Given the description of an element on the screen output the (x, y) to click on. 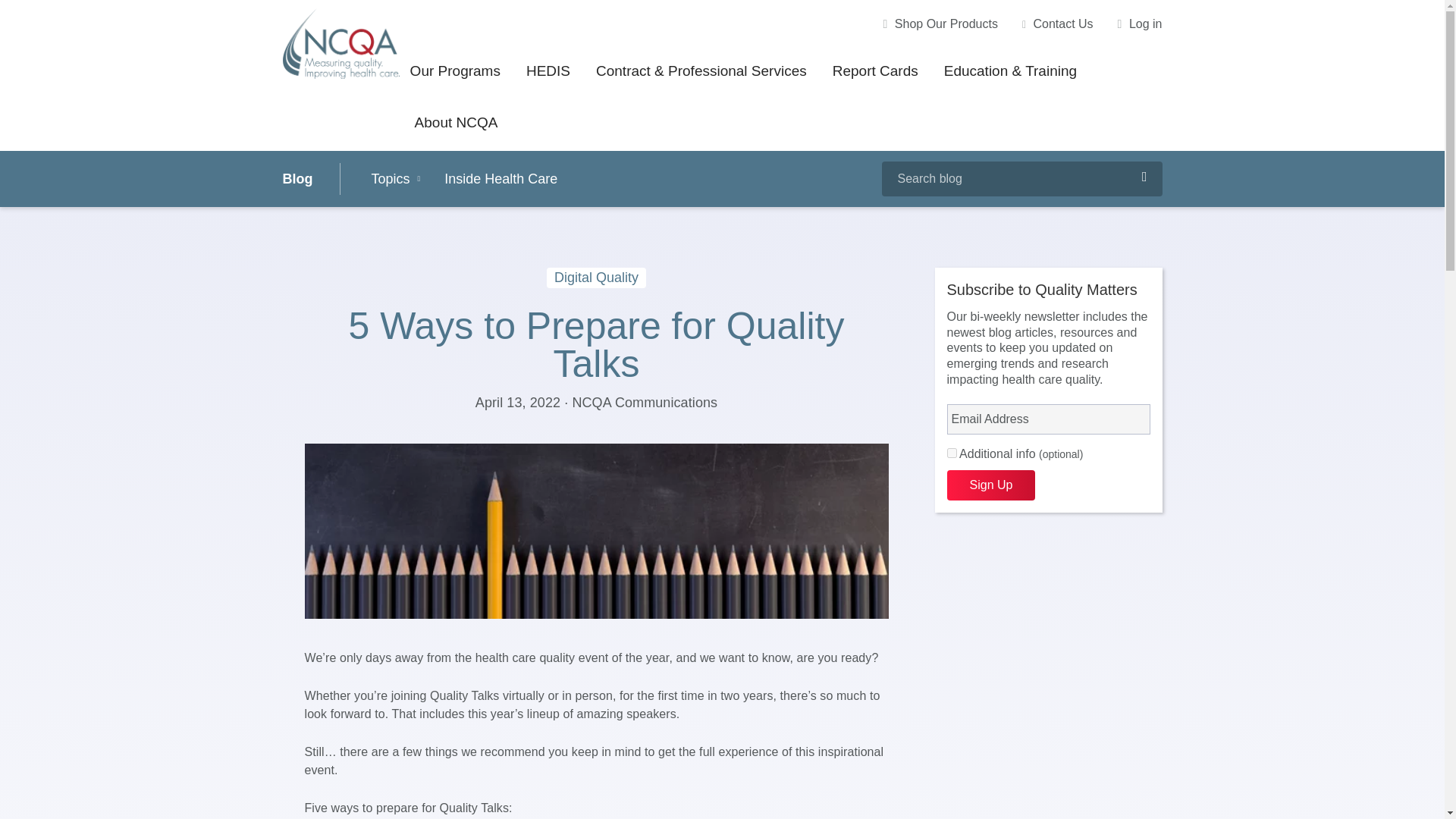
Contact Us (1057, 24)
Our Programs (454, 73)
Shop Our Products (940, 24)
on (951, 452)
Log in (1139, 24)
Sign Up (990, 485)
